Given the description of an element on the screen output the (x, y) to click on. 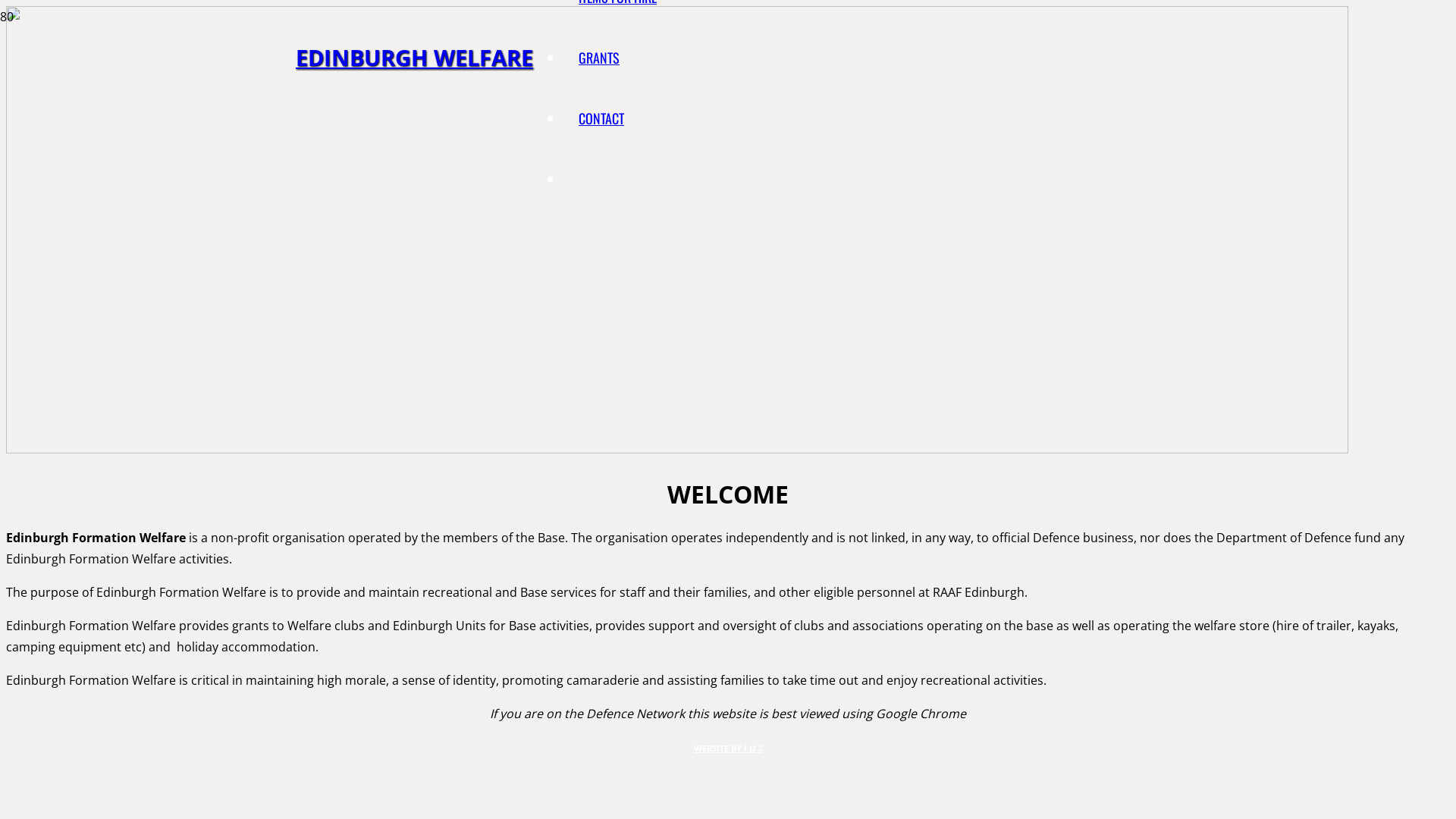
CONTACT Element type: text (601, 118)
GRANTS Element type: text (598, 57)
EDINBURGH WELFARE Element type: text (414, 57)
WEBSITE BY I O S Element type: text (727, 747)
